Given the description of an element on the screen output the (x, y) to click on. 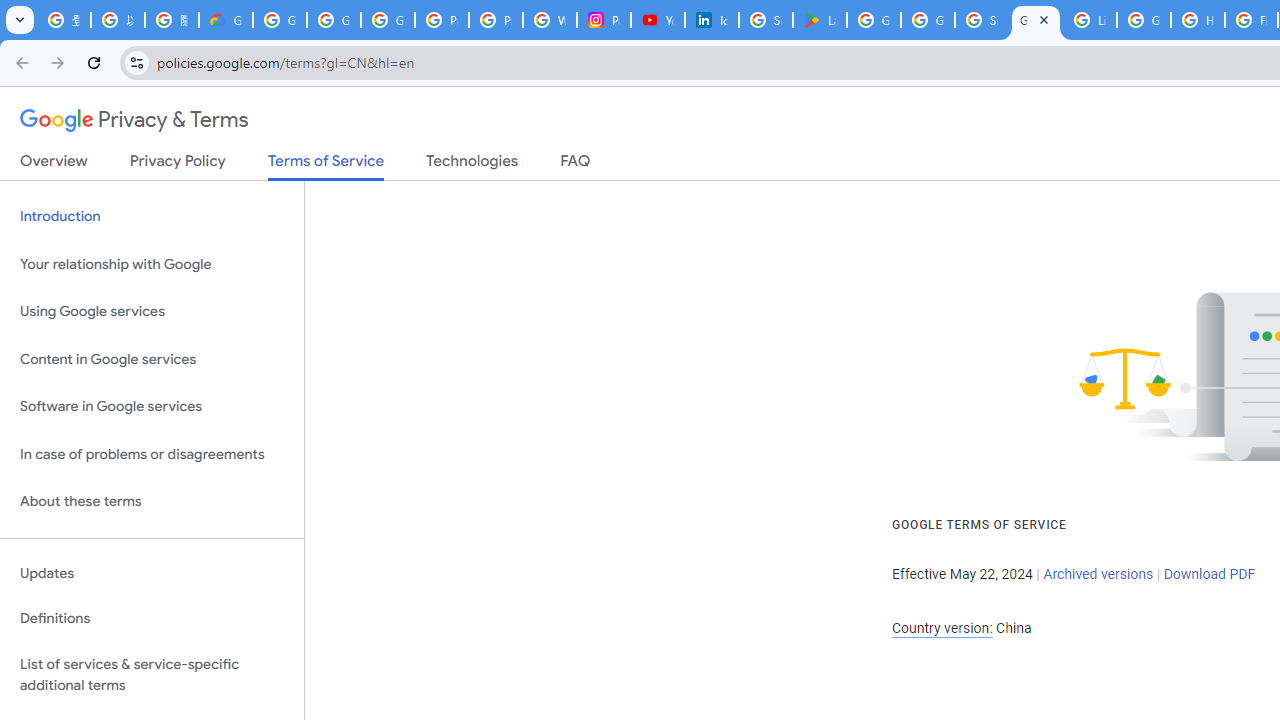
Privacy Help Center - Policies Help (495, 20)
Sign in - Google Accounts (765, 20)
